Given the description of an element on the screen output the (x, y) to click on. 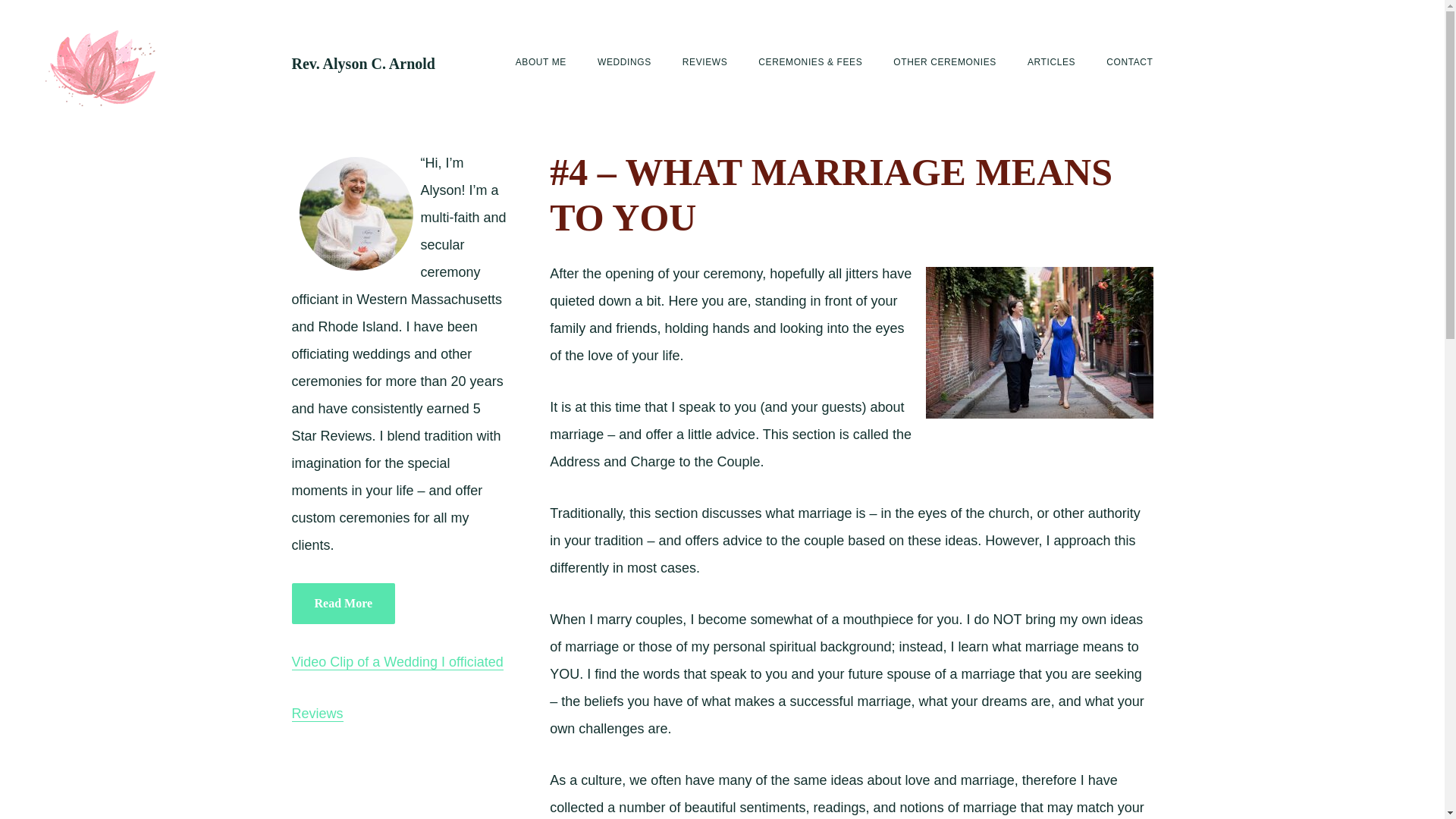
Rev. Alyson C. Arnold (362, 63)
OTHER CEREMONIES (944, 62)
Read More (342, 603)
CONTACT (1129, 62)
Reviews (316, 713)
Video Clip of a Wedding I officiated (396, 662)
REVIEWS (705, 62)
ABOUT ME (540, 62)
WEDDINGS (623, 62)
ARTICLES (1051, 62)
